Given the description of an element on the screen output the (x, y) to click on. 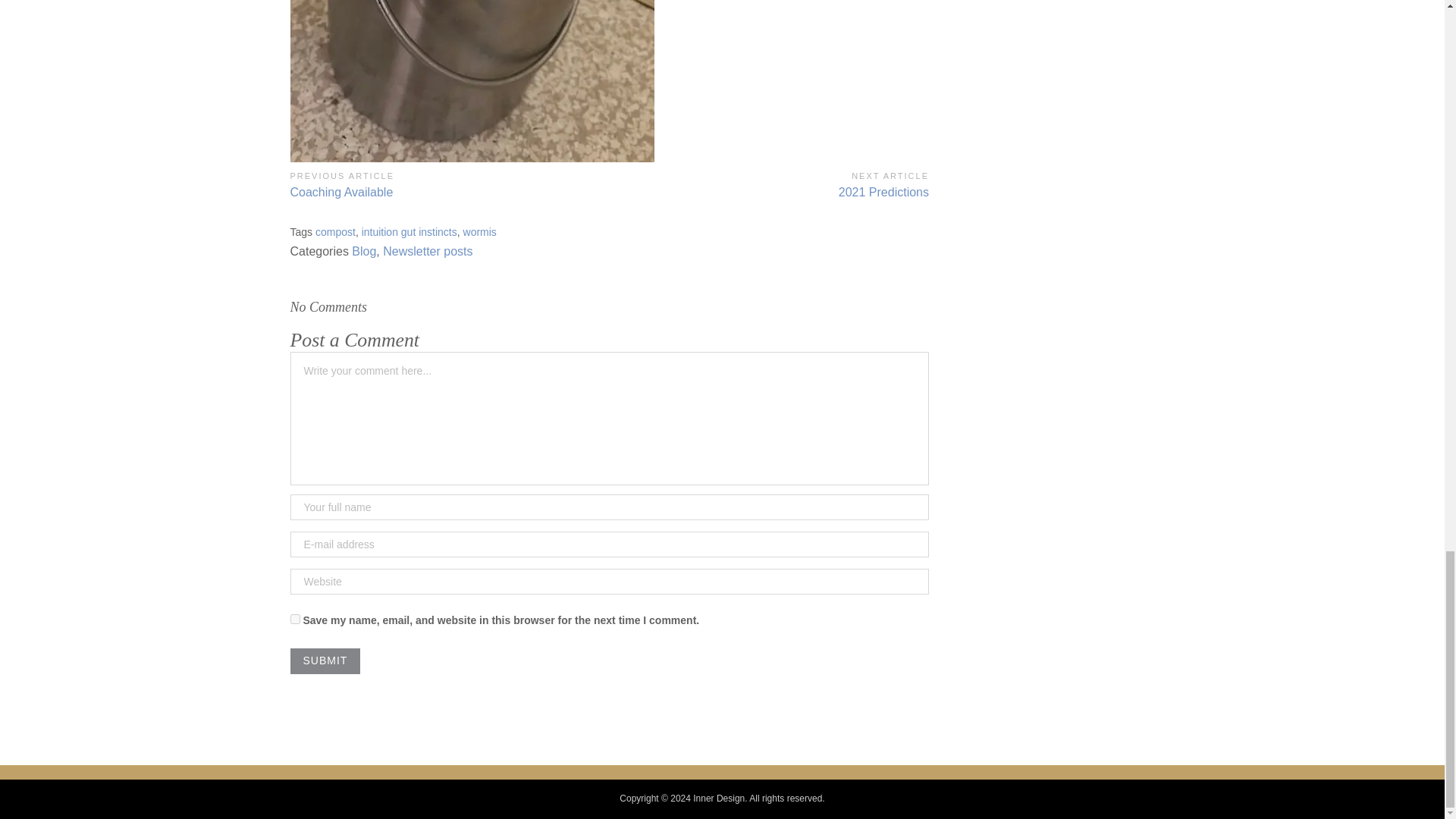
Submit (769, 183)
Blog (324, 661)
Newsletter posts (363, 250)
intuition gut instincts (426, 250)
compost (448, 183)
Submit (409, 232)
yes (335, 232)
wormis (324, 661)
